Given the description of an element on the screen output the (x, y) to click on. 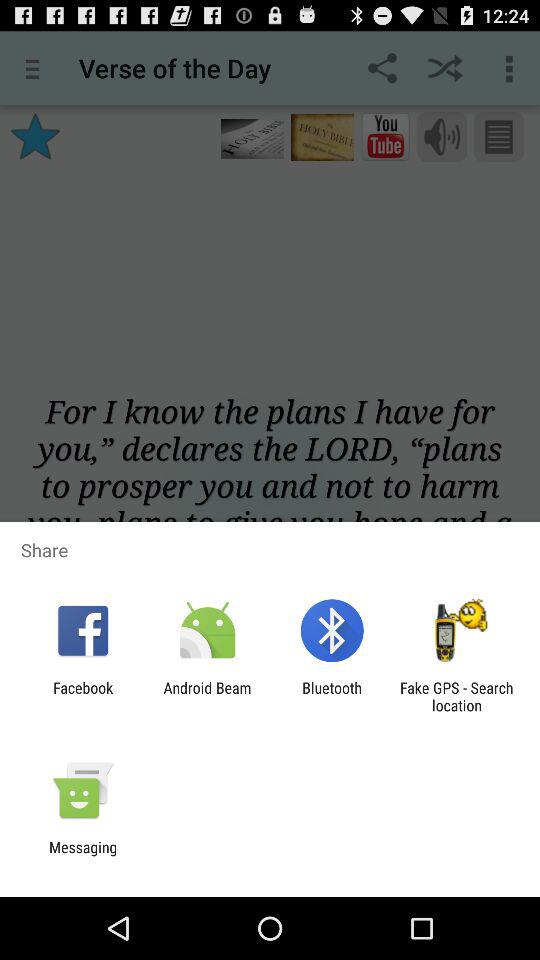
jump to the facebook item (83, 696)
